Given the description of an element on the screen output the (x, y) to click on. 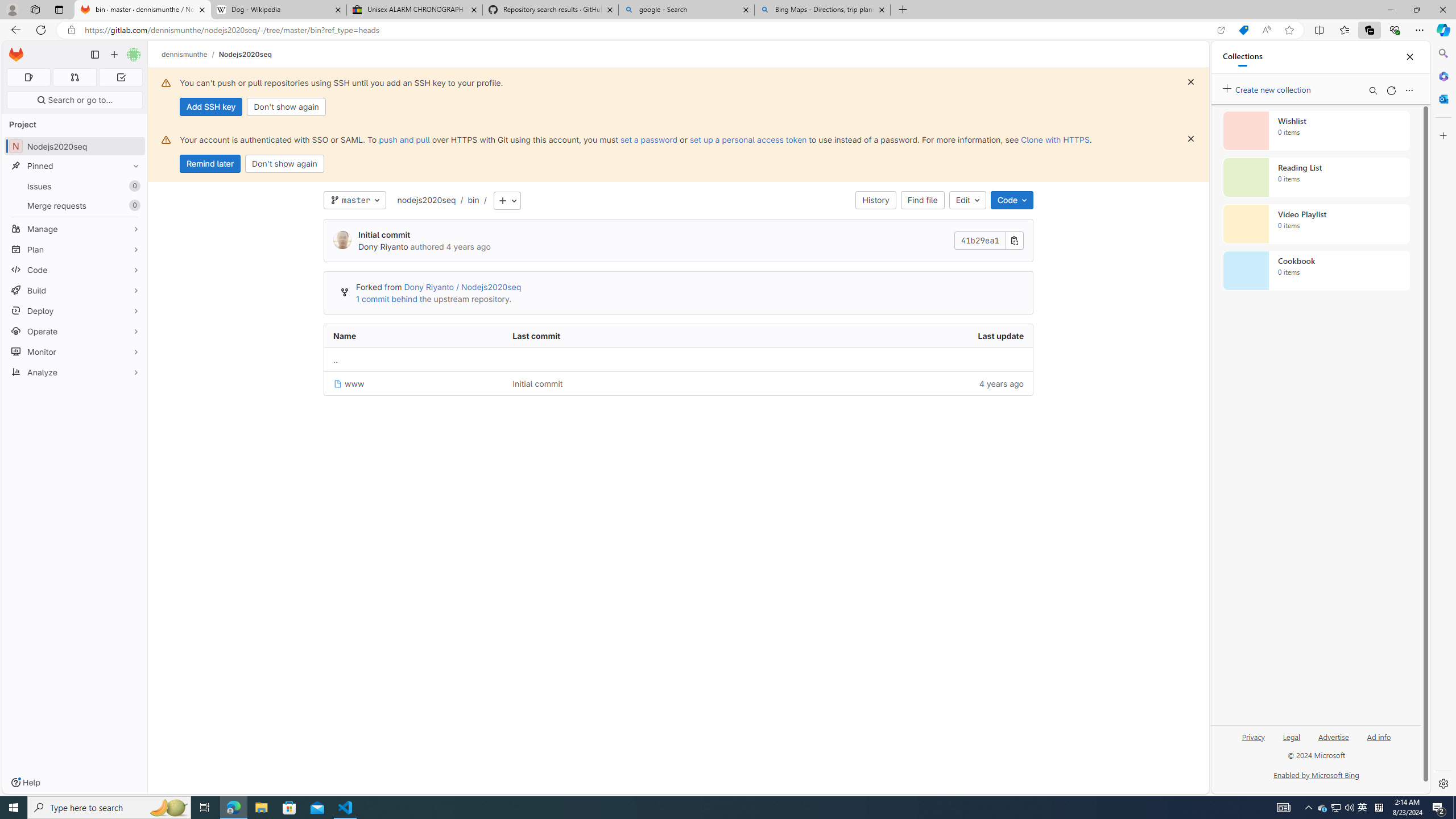
More options menu (1409, 90)
To-Do list 0 (120, 76)
set a password (649, 139)
Reading List collection, 0 items (1316, 177)
Pinned (74, 165)
/bin (467, 200)
Operate (74, 330)
www (348, 383)
Copy commit SHA (1014, 240)
